Given the description of an element on the screen output the (x, y) to click on. 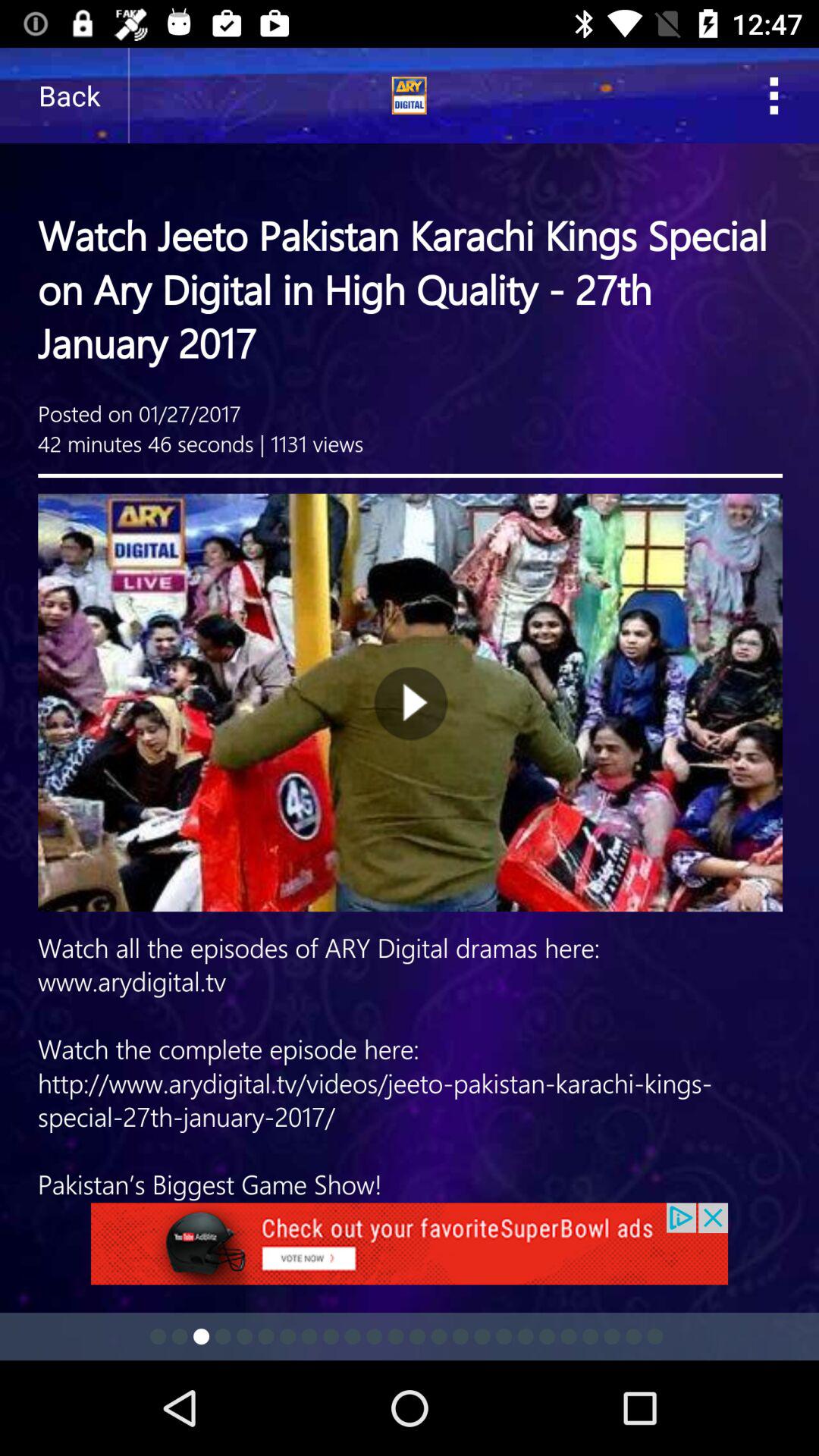
play the video (409, 624)
